Given the description of an element on the screen output the (x, y) to click on. 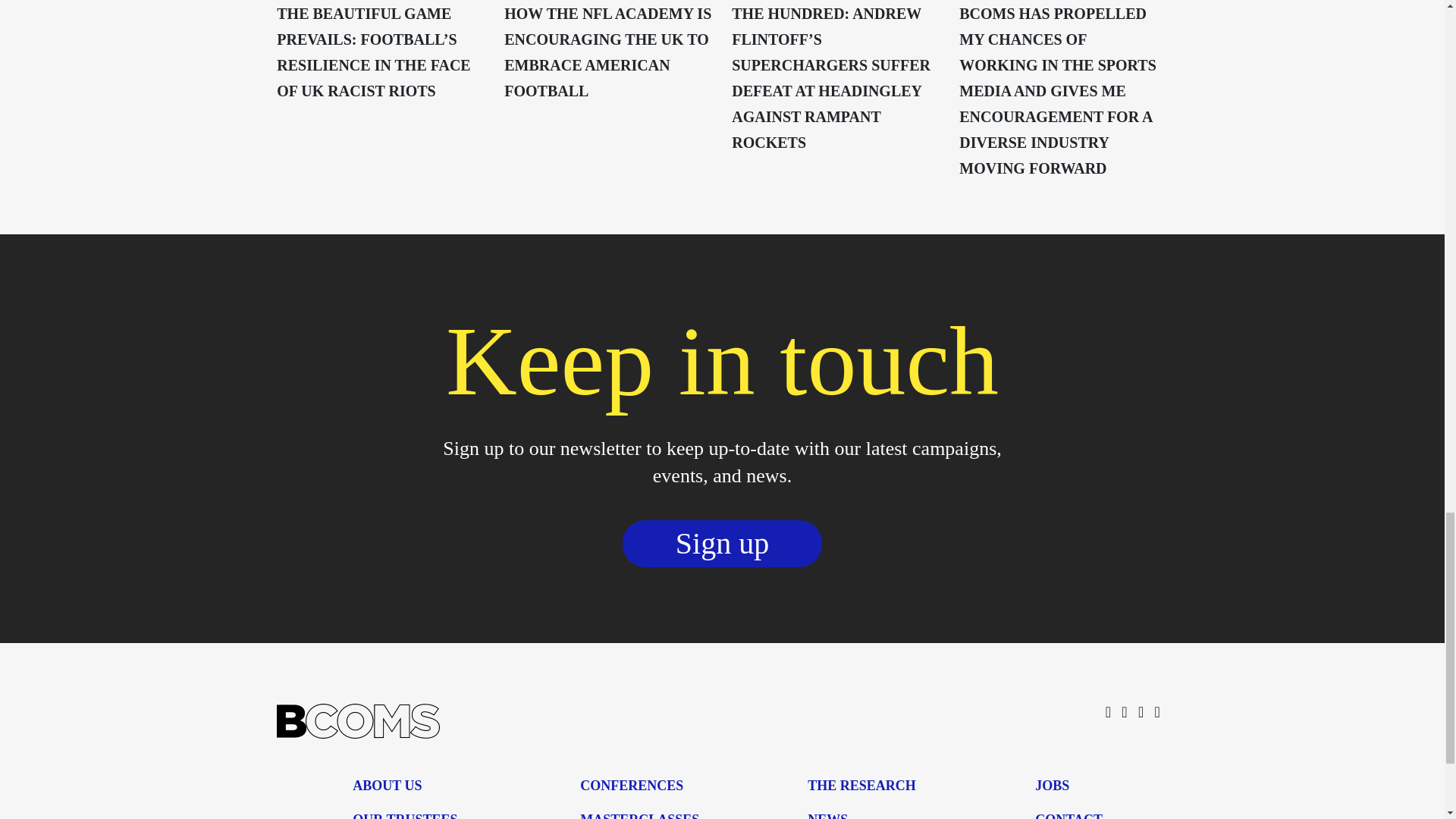
Sign up (722, 549)
CONFERENCES (630, 785)
THE RESEARCH (861, 785)
MASTERCLASSES (638, 815)
ABOUT US (387, 785)
OUR TRUSTEES (404, 815)
